Given the description of an element on the screen output the (x, y) to click on. 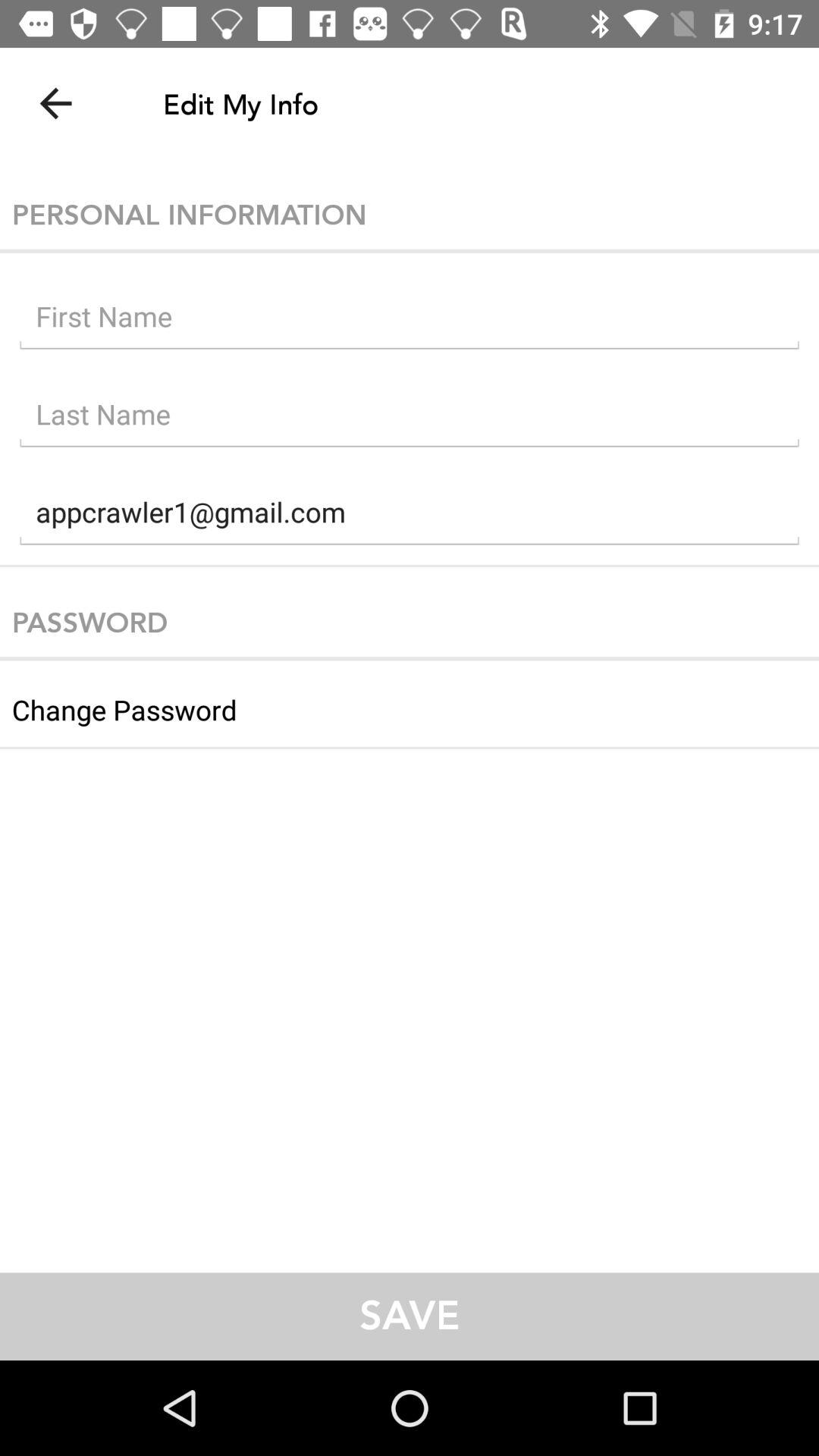
scroll to the change password (409, 703)
